Given the description of an element on the screen output the (x, y) to click on. 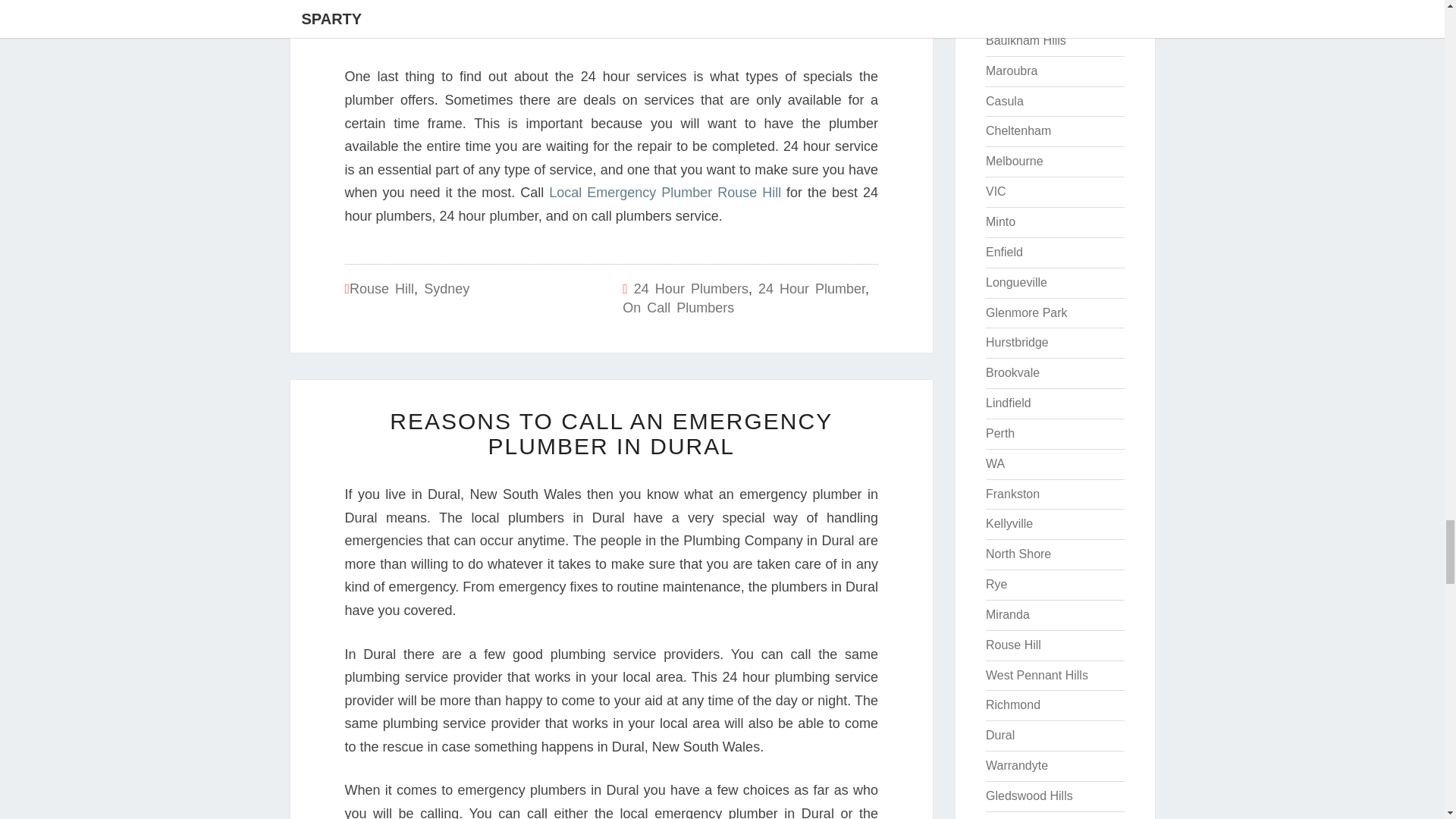
REASONS TO CALL AN EMERGENCY PLUMBER IN DURAL (611, 433)
Local Emergency Plumber Rouse Hill (664, 192)
Sydney (445, 288)
24 Hour Plumber (811, 288)
Rouse Hill (381, 288)
On Call Plumbers (678, 307)
24 Hour Plumbers (690, 288)
